Given the description of an element on the screen output the (x, y) to click on. 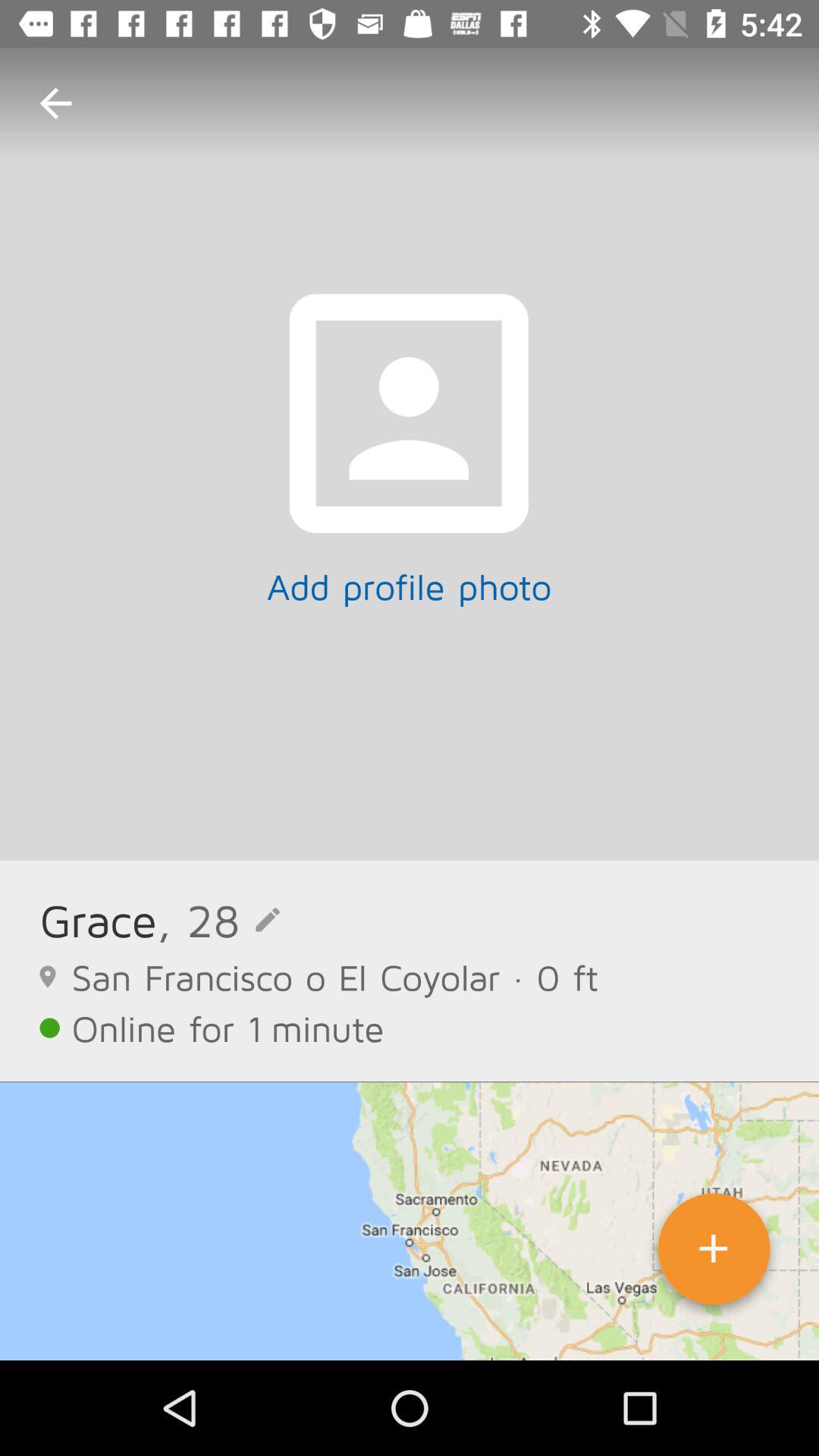
select the item below add profile photo item (217, 919)
